Given the description of an element on the screen output the (x, y) to click on. 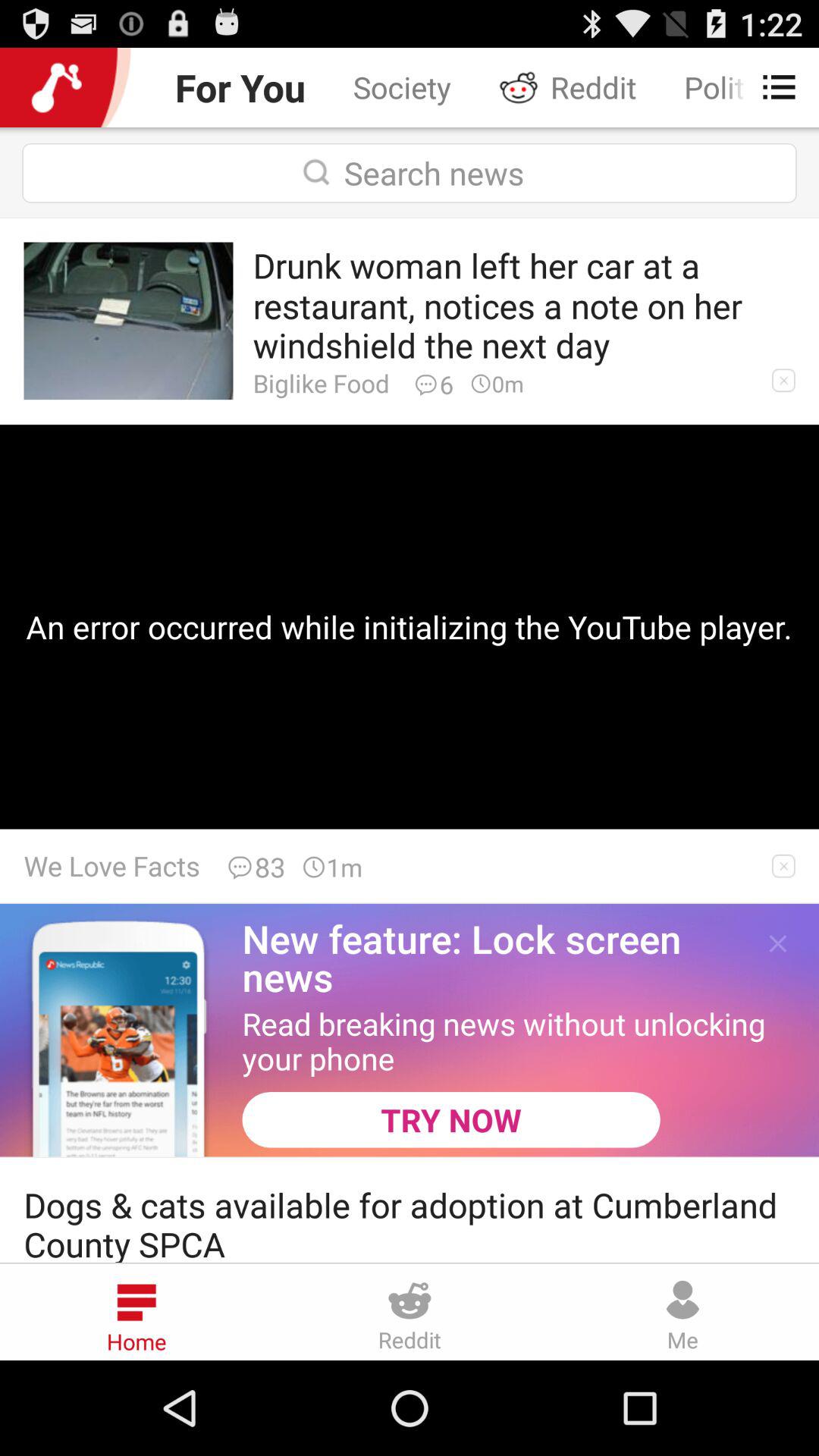
launch app to the right of reddit (771, 87)
